Given the description of an element on the screen output the (x, y) to click on. 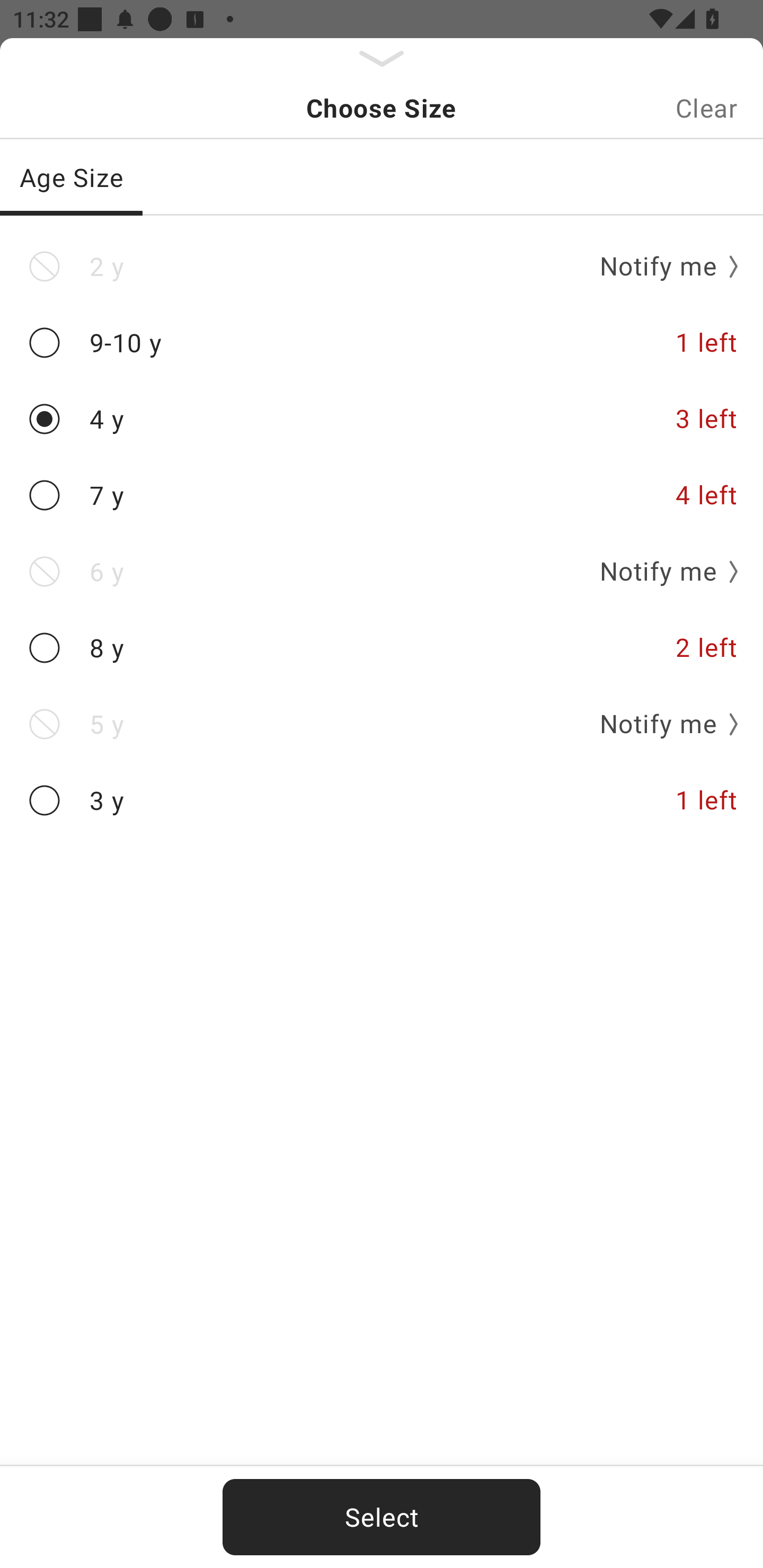
Clear (706, 107)
2 y Notify me (381, 266)
Notify me (661, 266)
9-10 y 1 left (381, 342)
4 y 3 left (381, 419)
7 y 4 left (381, 495)
6 y Notify me (381, 571)
Notify me (661, 571)
8 y 2 left (381, 647)
5 y Notify me (381, 724)
Notify me (661, 724)
3 y 1 left (381, 800)
Select (381, 1516)
